Given the description of an element on the screen output the (x, y) to click on. 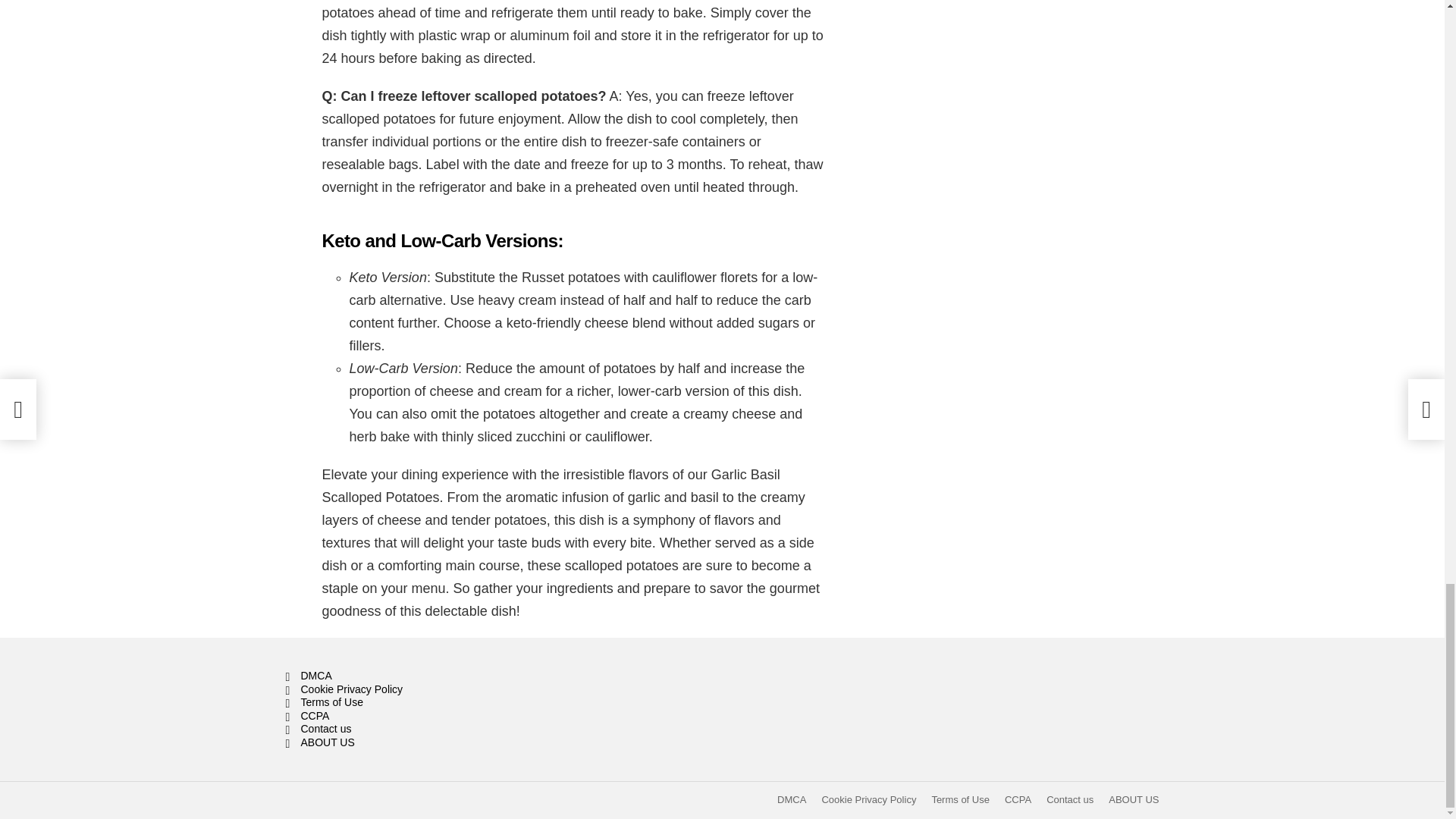
CCPA (422, 716)
Cookie Privacy Policy (422, 689)
Terms of Use (960, 799)
Terms of Use (422, 703)
ABOUT US (1133, 799)
CCPA (1018, 799)
DMCA (791, 799)
Contact us (422, 729)
Cookie Privacy Policy (868, 799)
Contact us (1069, 799)
ABOUT US (422, 743)
DMCA (422, 676)
